Given the description of an element on the screen output the (x, y) to click on. 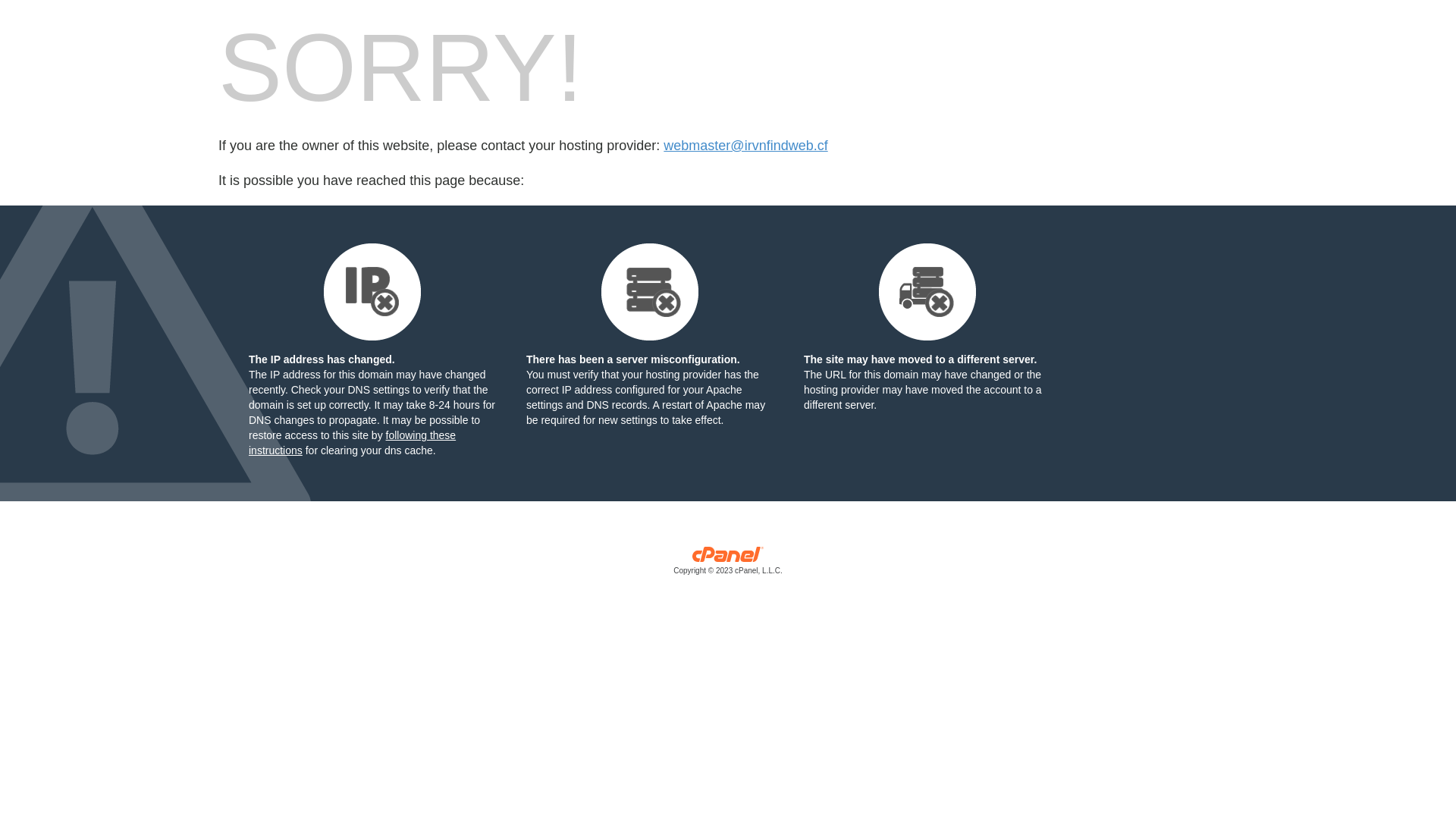
webmaster@irvnfindweb.cf Element type: text (745, 145)
following these instructions Element type: text (351, 442)
